Given the description of an element on the screen output the (x, y) to click on. 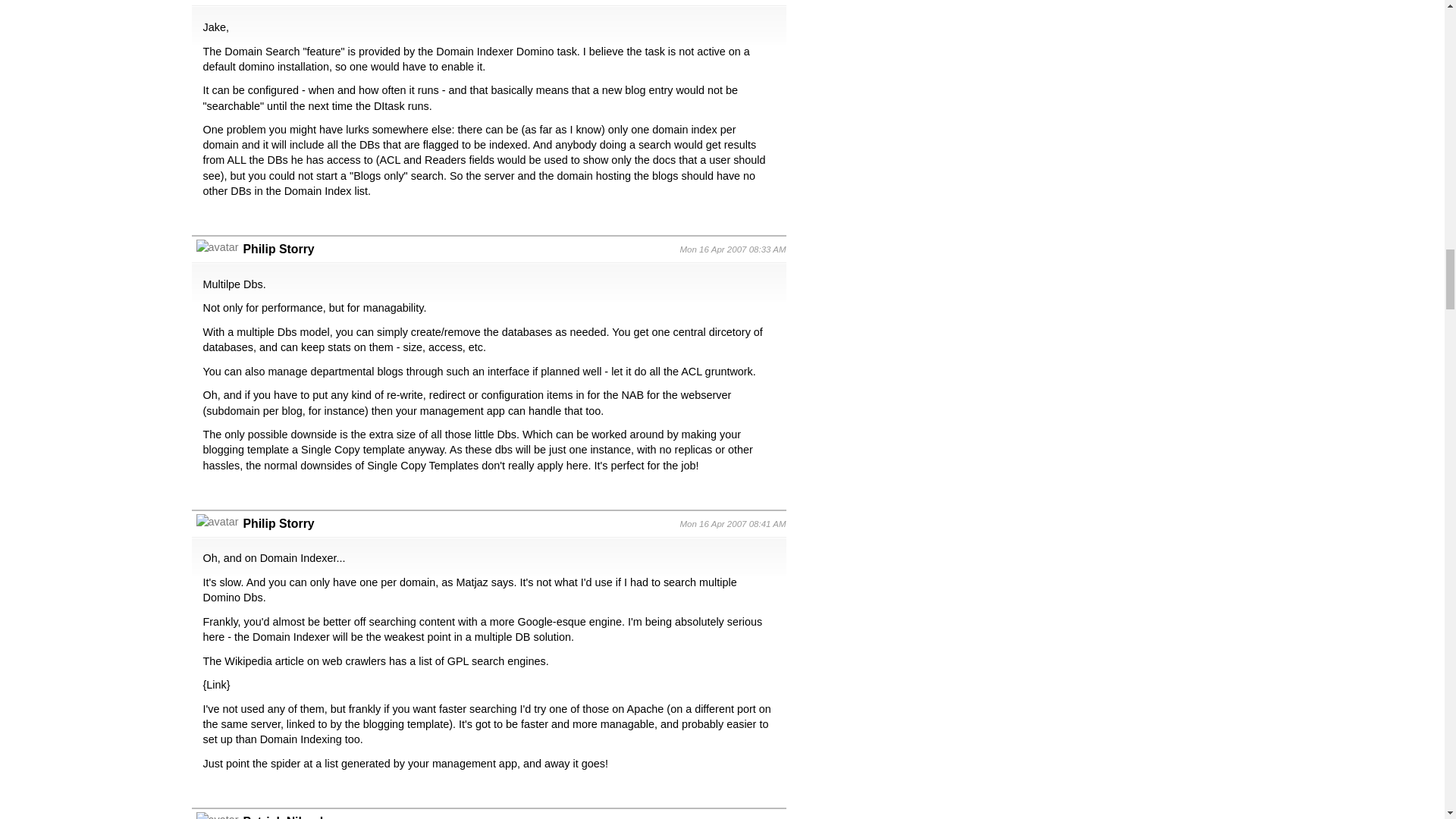
Philip Storry (278, 522)
Philip Storry (278, 248)
Patrick Niland (283, 816)
Click to Email (283, 816)
Link (215, 684)
